Given the description of an element on the screen output the (x, y) to click on. 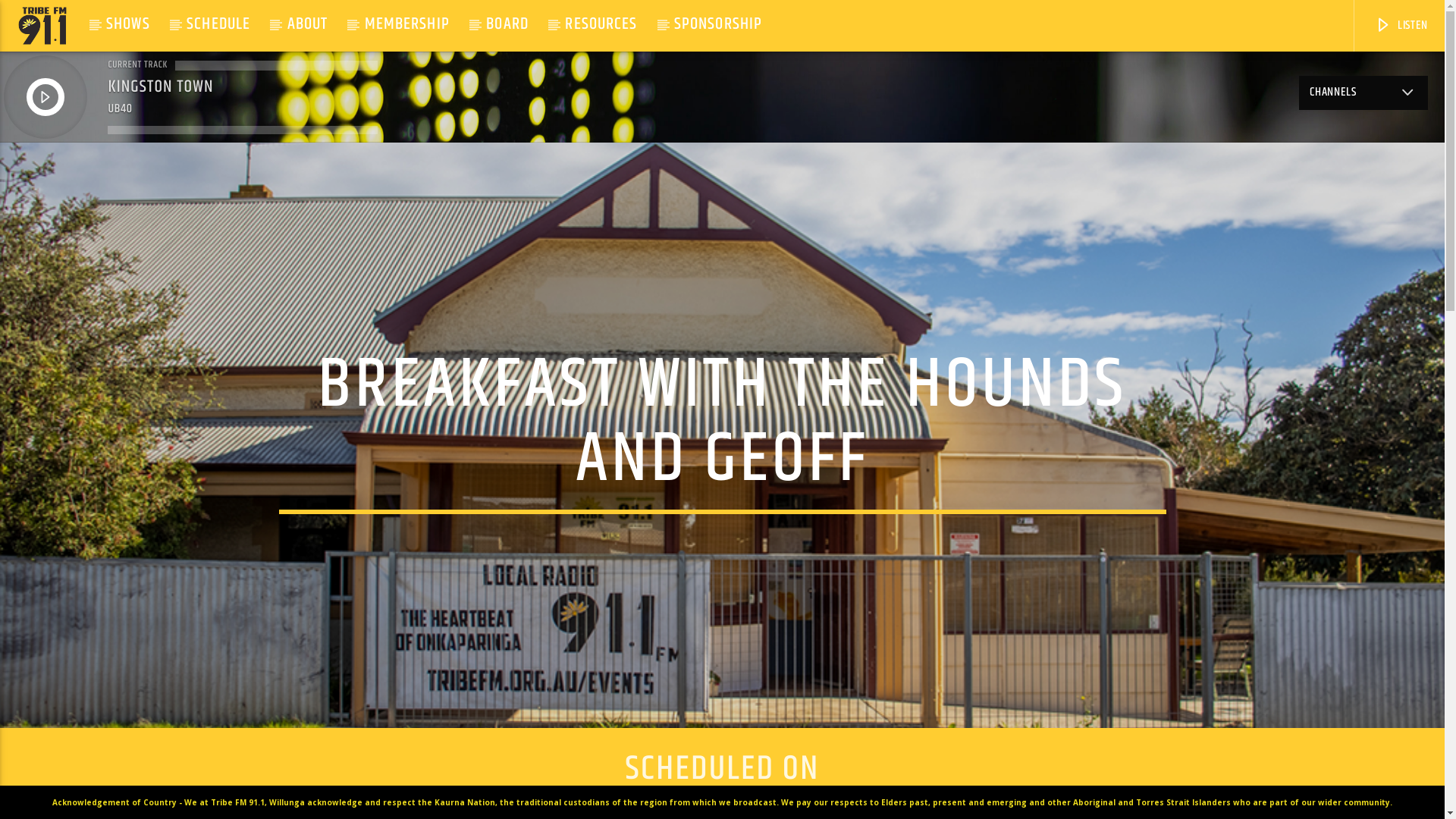
CHANNELS Element type: text (1363, 92)
SPONSORSHIP Element type: text (718, 24)
SHOWS Element type: text (127, 24)
ABOUT Element type: text (306, 24)
SCHEDULE Element type: text (218, 24)
RESOURCES Element type: text (601, 24)
BOARD Element type: text (507, 24)
MEMBERSHIP Element type: text (406, 24)
LISTEN Element type: text (1399, 25)
Search Element type: text (1203, 166)
